Given the description of an element on the screen output the (x, y) to click on. 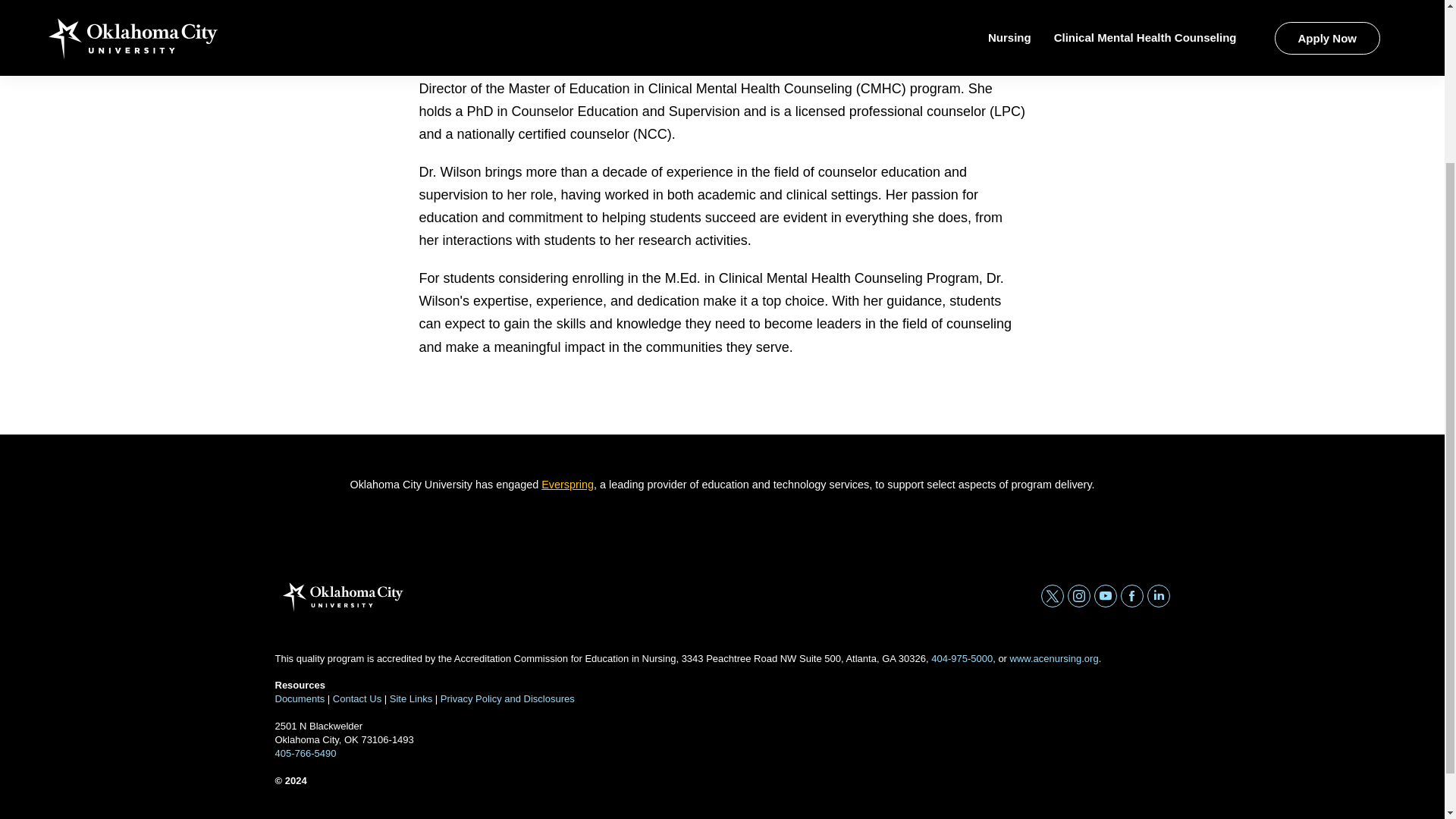
instagram (1078, 595)
twitter (1051, 595)
Everspring (567, 484)
